Given the description of an element on the screen output the (x, y) to click on. 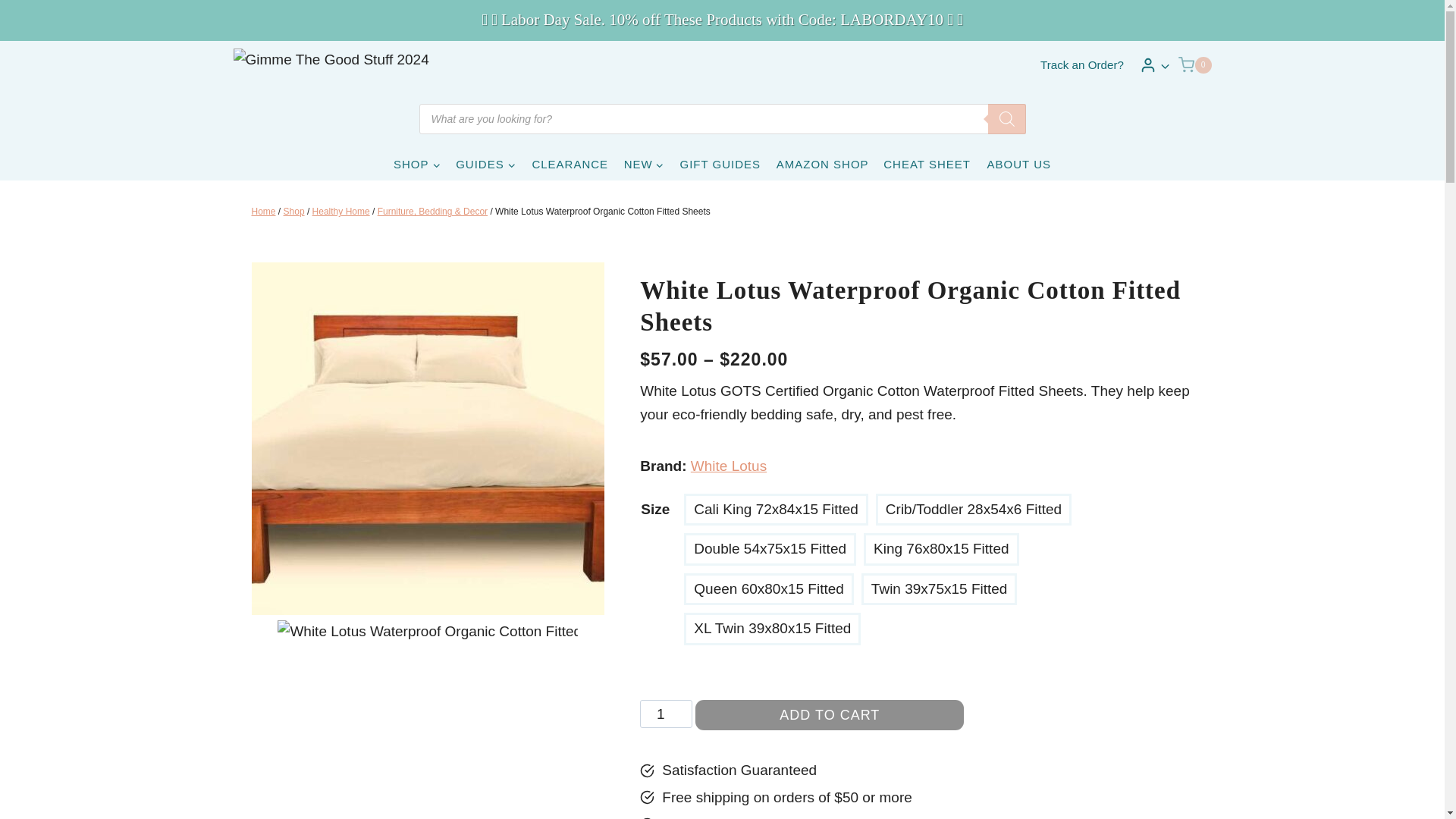
Track an Order? (1081, 64)
0 (1194, 64)
